Given the description of an element on the screen output the (x, y) to click on. 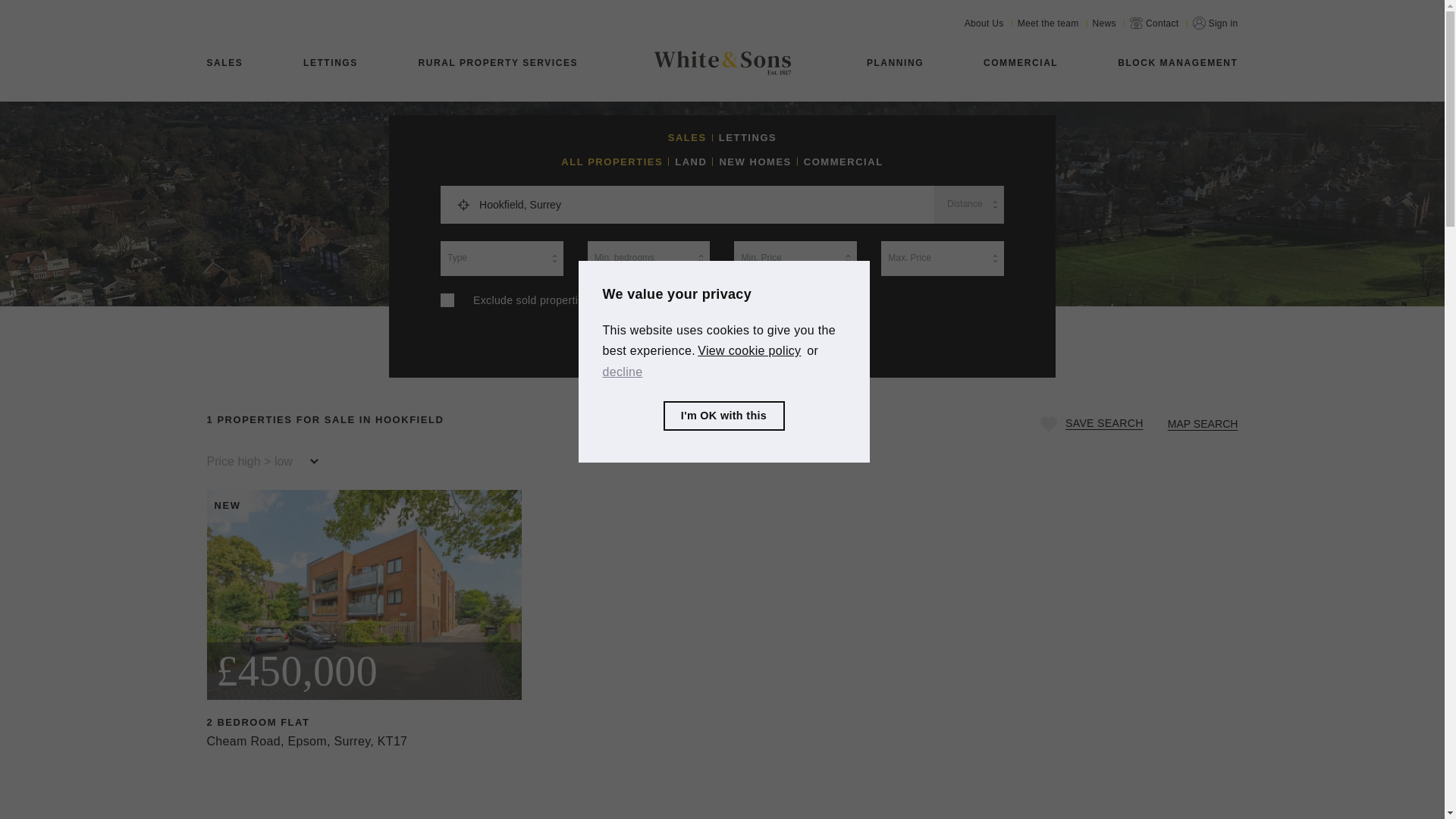
BLOCK MANAGEMENT (1177, 62)
RURAL PROPERTY SERVICES (498, 62)
Meet the team (1047, 22)
Hookfield, Surrey (701, 204)
Sign in (1215, 22)
COMMERCIAL (1021, 62)
Call one of our branches (1154, 22)
Hookfield, Surrey (701, 204)
Lettings (330, 62)
View cookie policy (749, 350)
MAP SEARCH (1203, 423)
Contact (1154, 22)
